Given the description of an element on the screen output the (x, y) to click on. 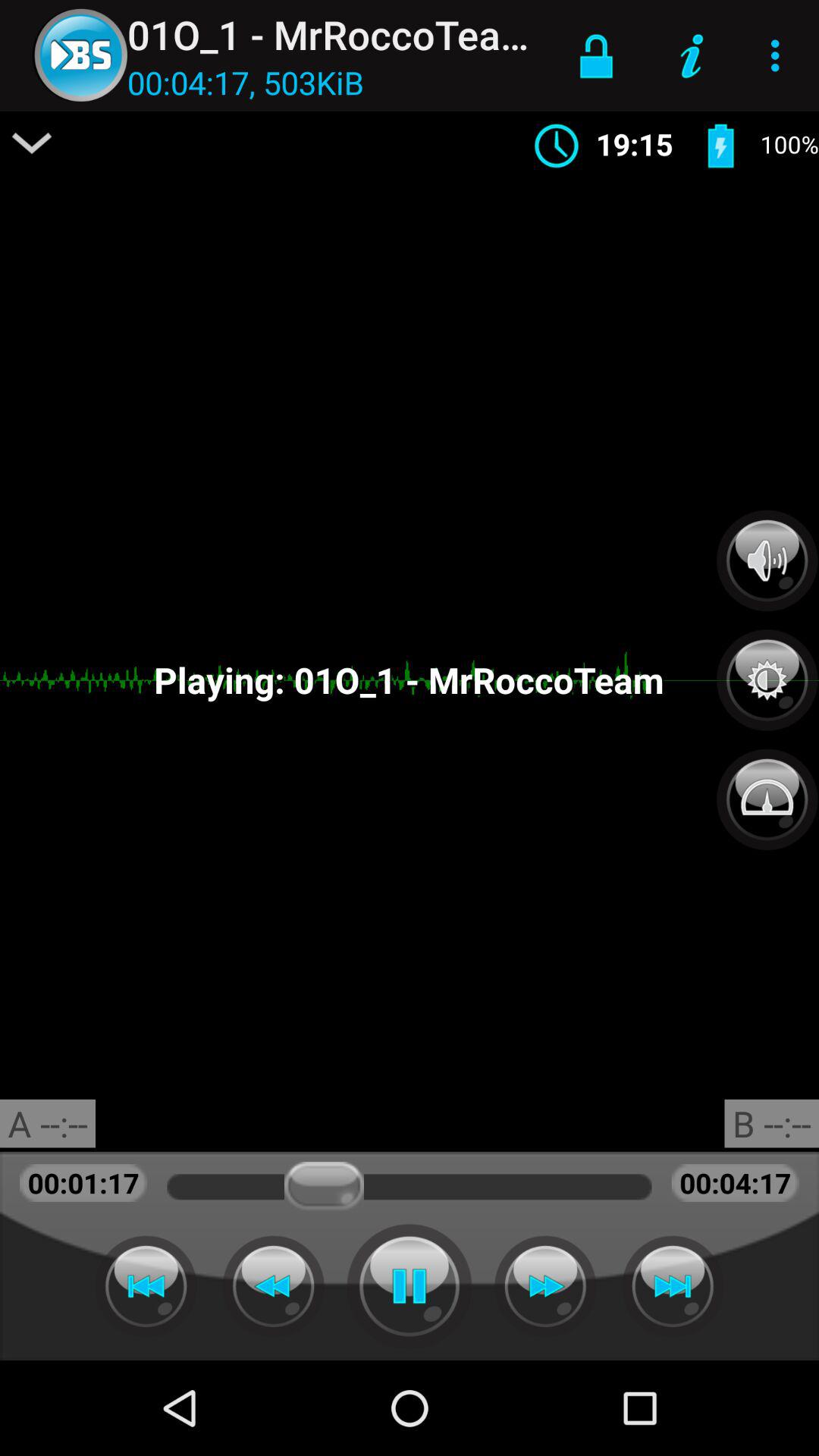
get more information (31, 143)
